Given the description of an element on the screen output the (x, y) to click on. 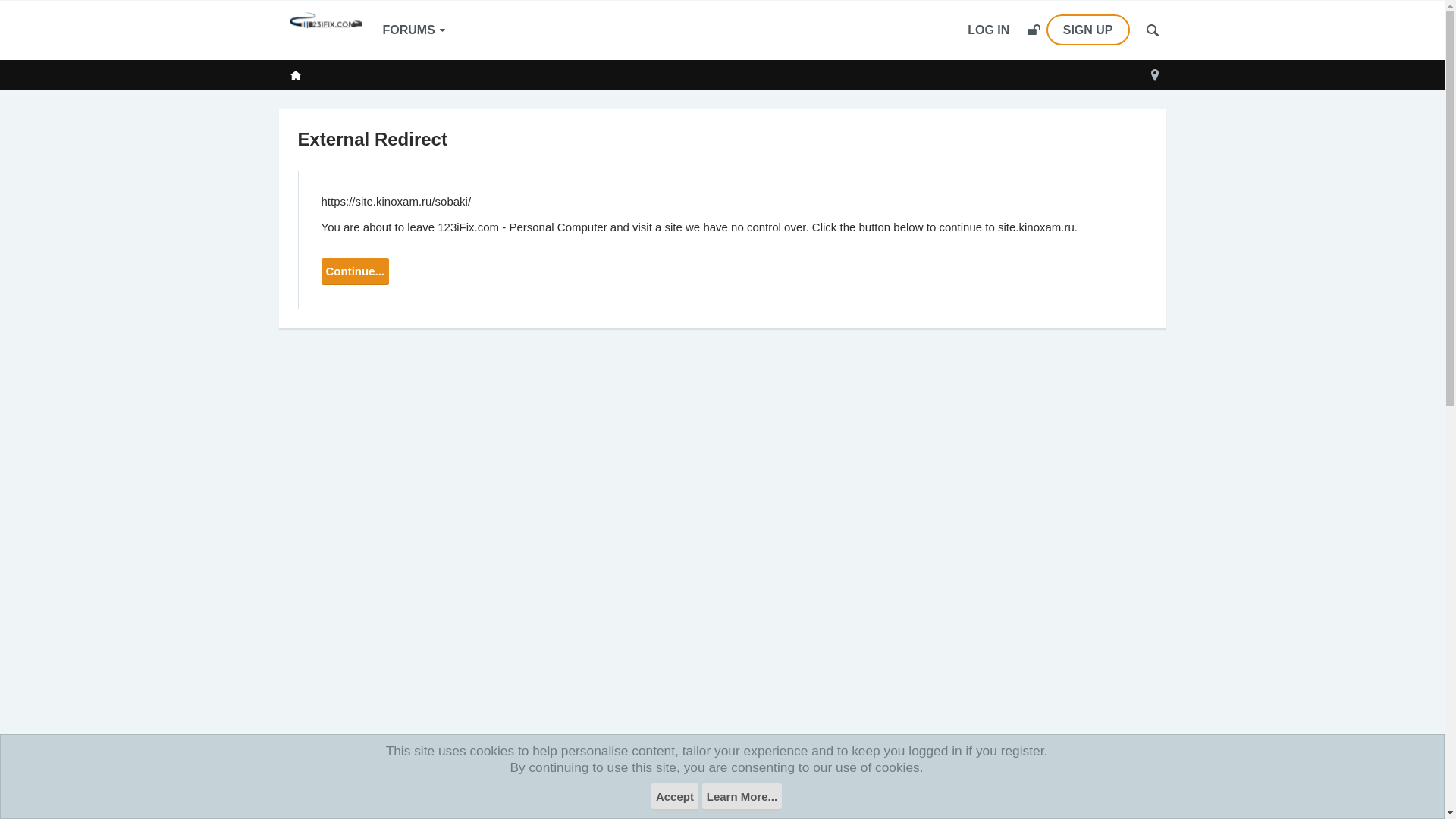
SIGN UP Element type: text (1078, 29)
Accept Element type: text (674, 796)
Forums Element type: hover (294, 74)
Open quick navigation Element type: hover (1154, 74)
FORUMS Element type: text (414, 29)
Learn More... Element type: text (741, 796)
Search Element type: hover (1152, 29)
LOG IN Element type: text (988, 29)
Continue... Element type: text (355, 271)
